Given the description of an element on the screen output the (x, y) to click on. 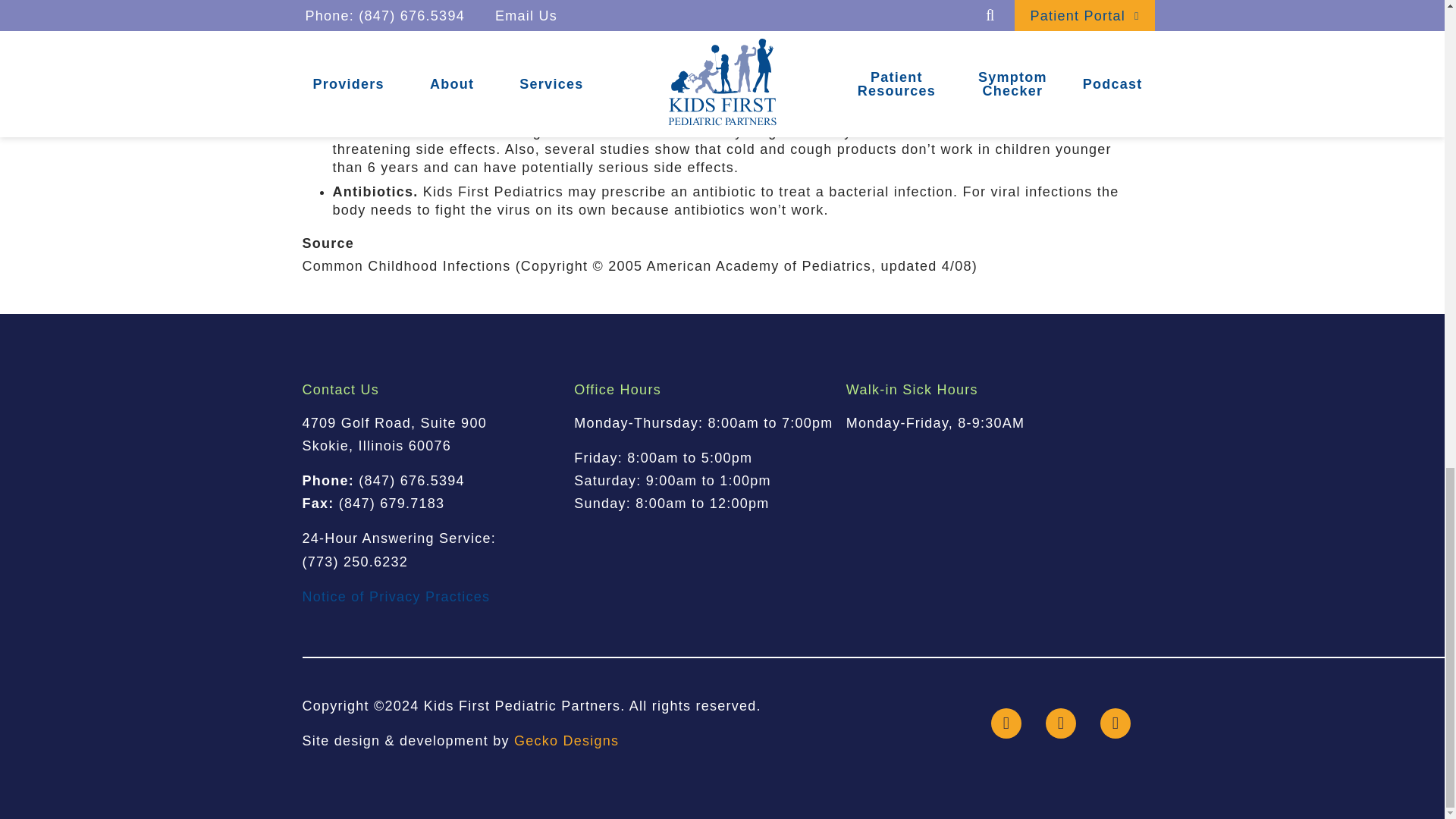
Twitter (1060, 723)
Custom Link (1114, 723)
Facebook (1005, 723)
